Given the description of an element on the screen output the (x, y) to click on. 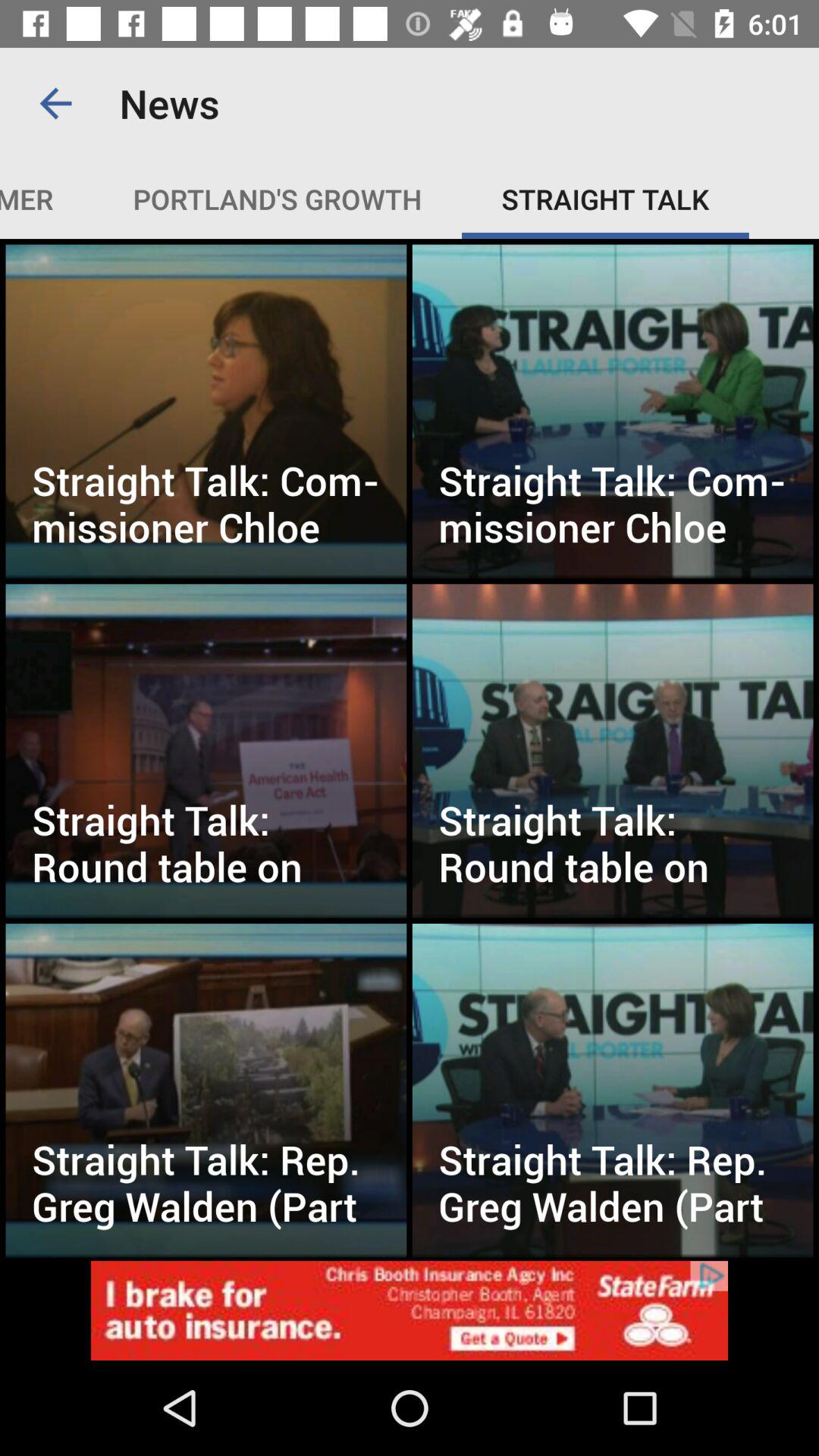
its an advertisement (409, 1310)
